Given the description of an element on the screen output the (x, y) to click on. 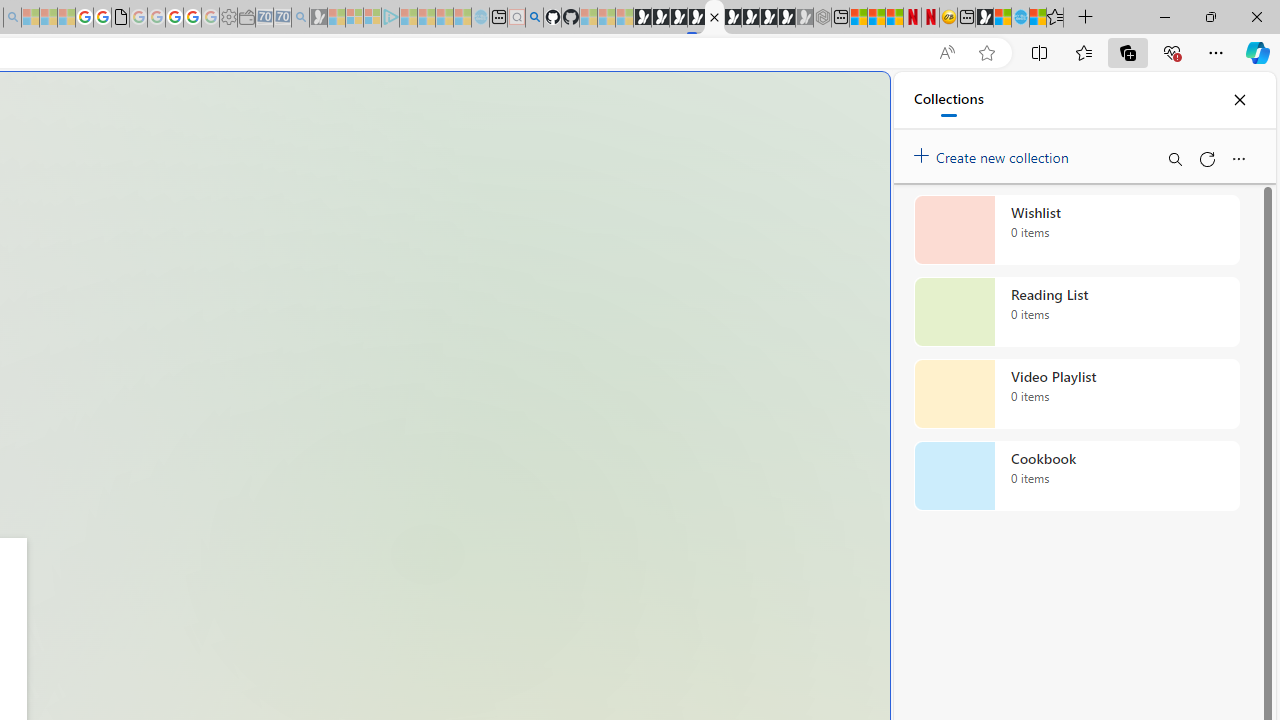
Bing Real Estate - Home sales and rental listings - Sleeping (299, 17)
Wallet - Sleeping (246, 17)
Home | Sky Blue Bikes - Sky Blue Bikes (687, 426)
Sign in to your account (714, 17)
Frequently visited (418, 265)
